Given the description of an element on the screen output the (x, y) to click on. 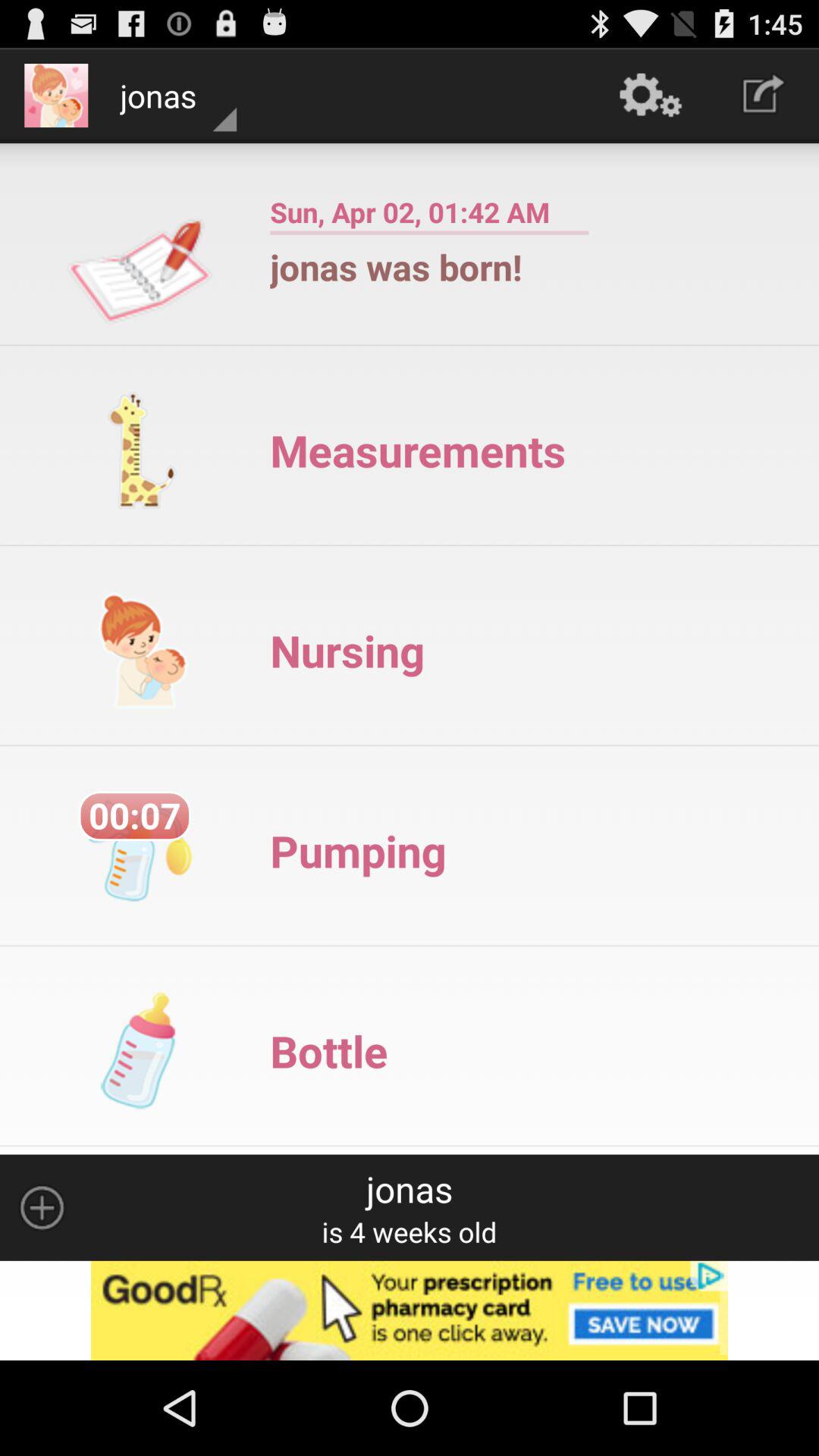
add option (409, 1310)
